Given the description of an element on the screen output the (x, y) to click on. 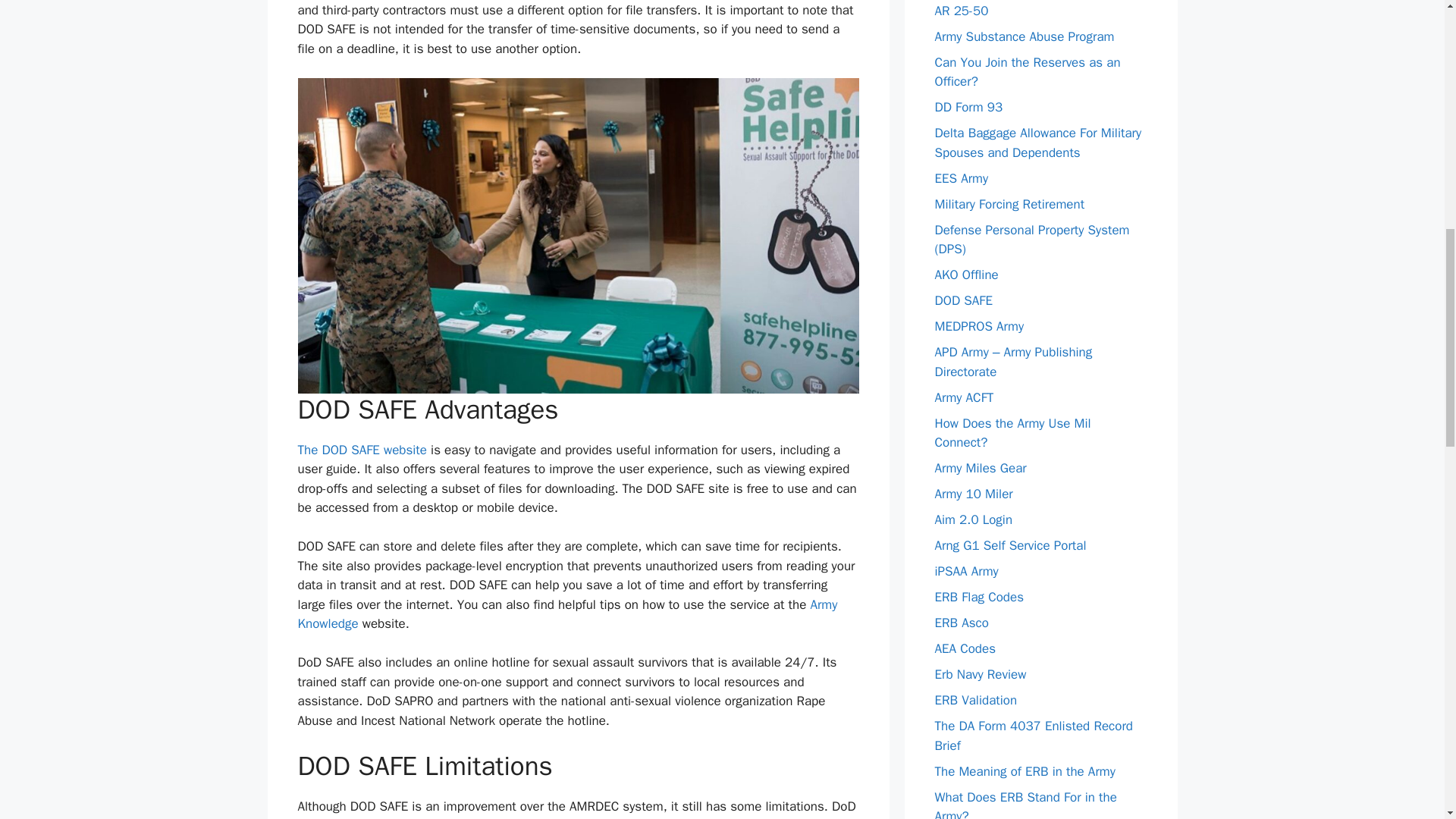
Can You Join the Reserves as an Officer? (1026, 72)
DD Form 93 (968, 107)
Military Forcing Retirement (1009, 203)
MEDPROS Army (978, 326)
EES Army (961, 177)
DOD SAFE (962, 300)
Delta Baggage Allowance For Military Spouses and Dependents (1037, 142)
AR 25-50 (961, 10)
The DOD SAFE website (361, 449)
Army Knowledge (567, 614)
